Given the description of an element on the screen output the (x, y) to click on. 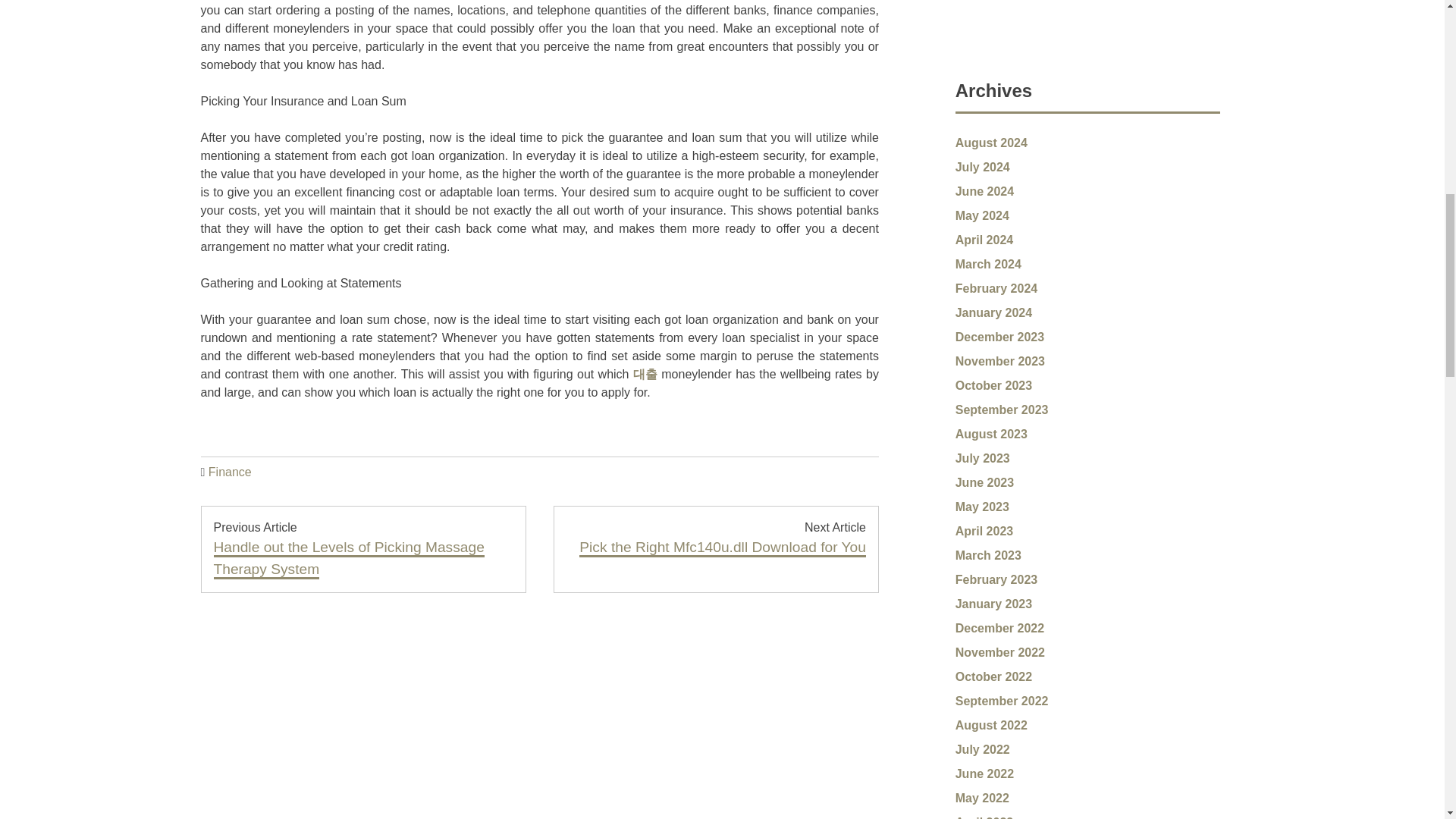
June 2024 (984, 191)
July 2024 (982, 166)
August 2023 (991, 433)
March 2023 (988, 554)
January 2023 (993, 603)
October 2023 (993, 385)
October 2022 (993, 676)
May 2024 (982, 215)
Finance (229, 472)
May 2023 (982, 506)
